Given the description of an element on the screen output the (x, y) to click on. 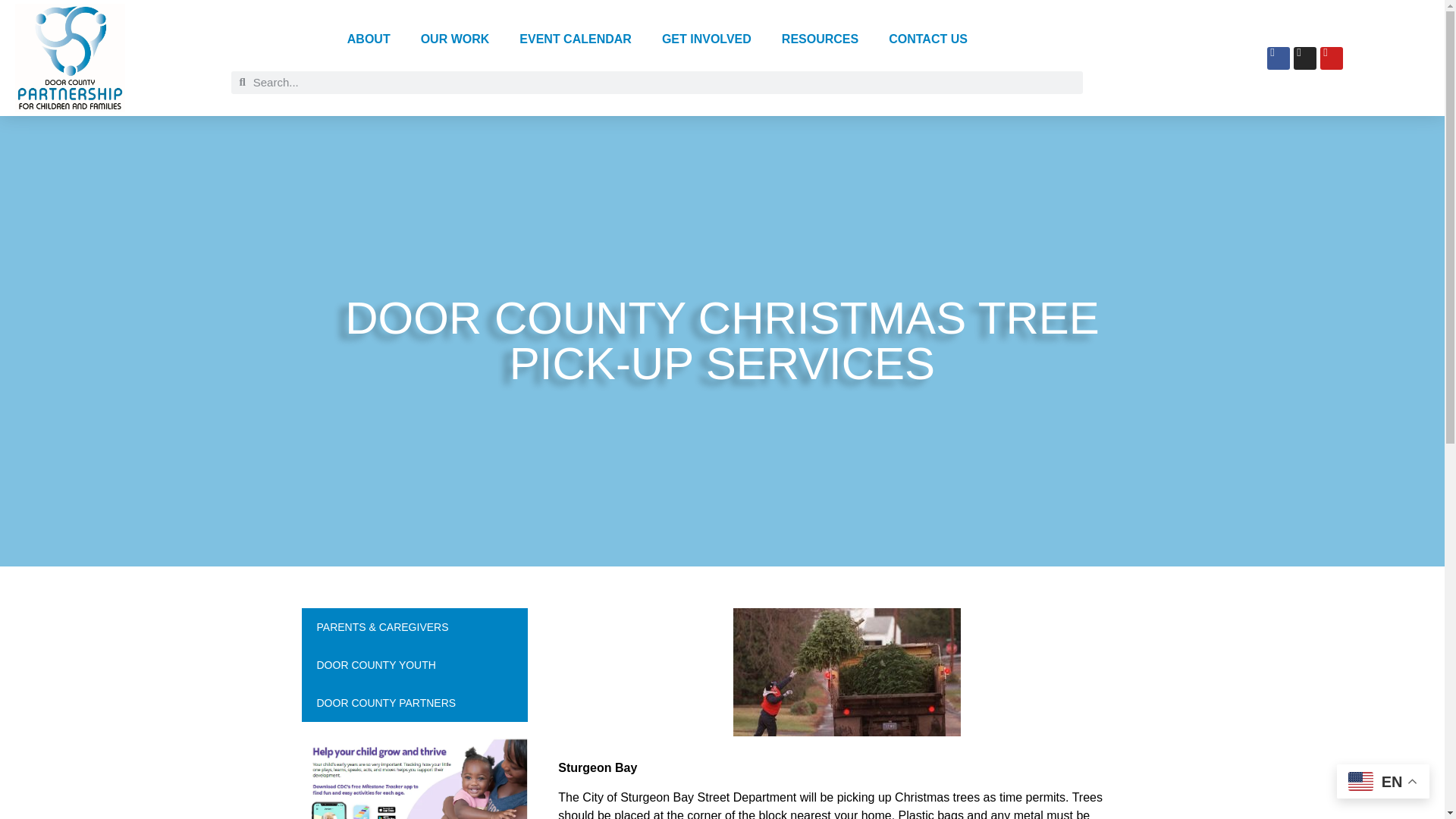
ABOUT (368, 39)
GET INVOLVED (706, 39)
CONTACT US (927, 39)
EVENT CALENDAR (574, 39)
OUR WORK (455, 39)
RESOURCES (820, 39)
